Given the description of an element on the screen output the (x, y) to click on. 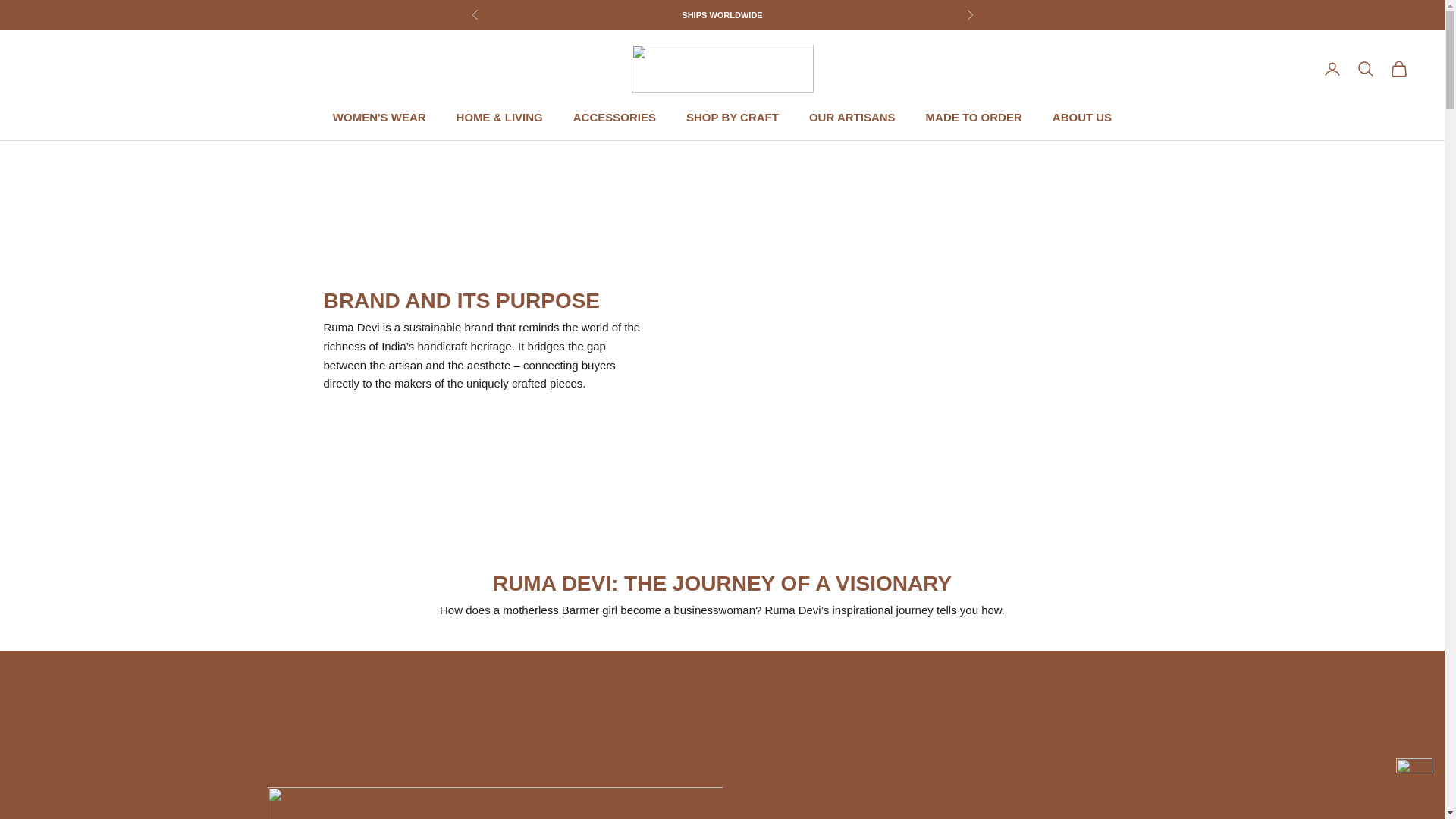
Previous (474, 15)
Next (968, 15)
OUR ARTISANS (852, 117)
ABOUT US (1082, 117)
Open search (1365, 68)
Ruma Devi (721, 68)
MADE TO ORDER (974, 117)
Open account page (1331, 68)
Open cart (1398, 68)
